Given the description of an element on the screen output the (x, y) to click on. 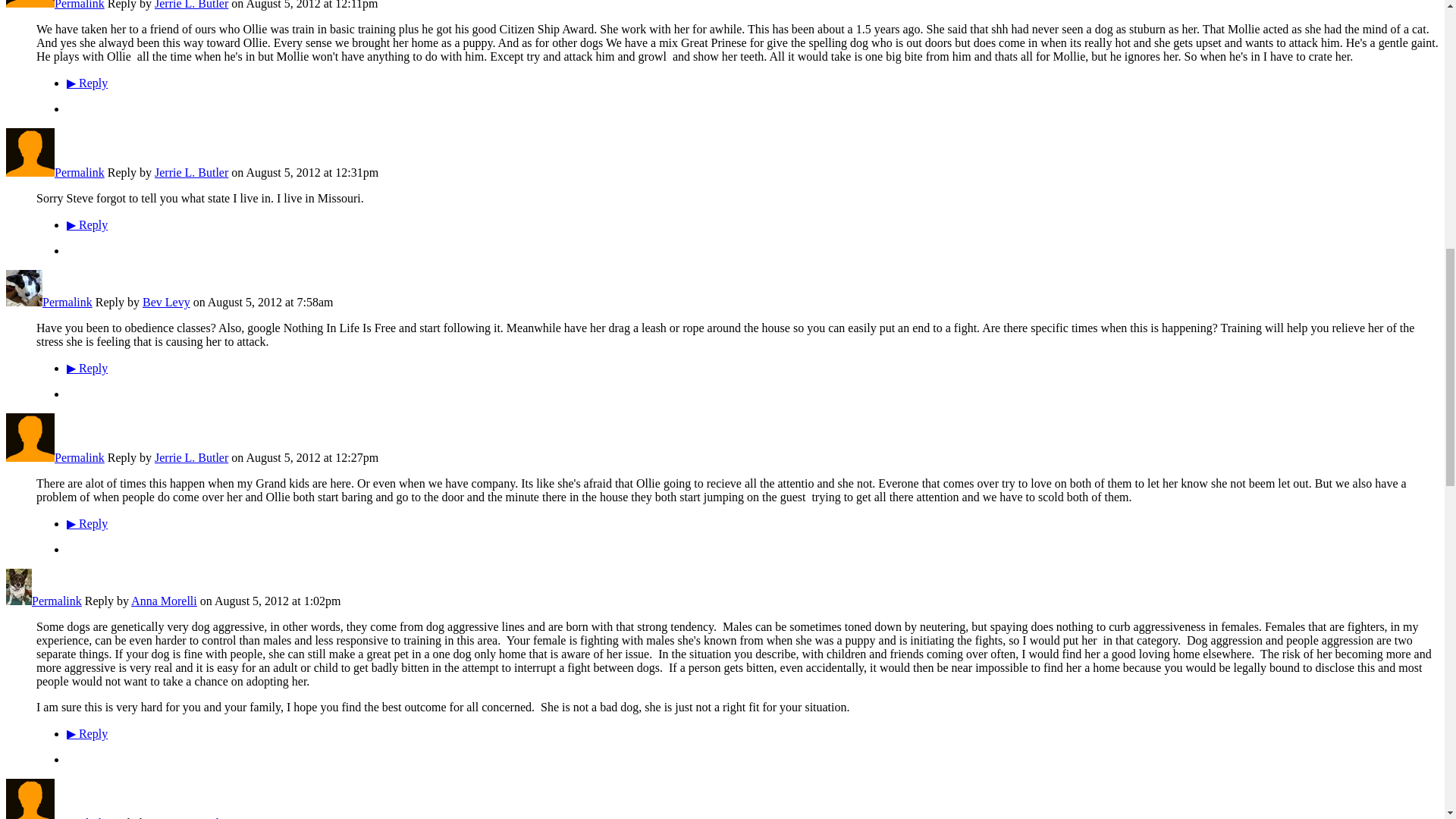
Permalink to this Reply (56, 600)
Bev Levy (23, 301)
Jerrie L. Butler (30, 172)
Anna Morelli (18, 600)
Permalink to this Reply (79, 4)
Permalink to this Reply (79, 172)
Jerrie L. Butler (30, 817)
Jerrie L. Butler (30, 4)
Permalink to this Reply (79, 457)
Jerrie L. Butler (30, 457)
